Given the description of an element on the screen output the (x, y) to click on. 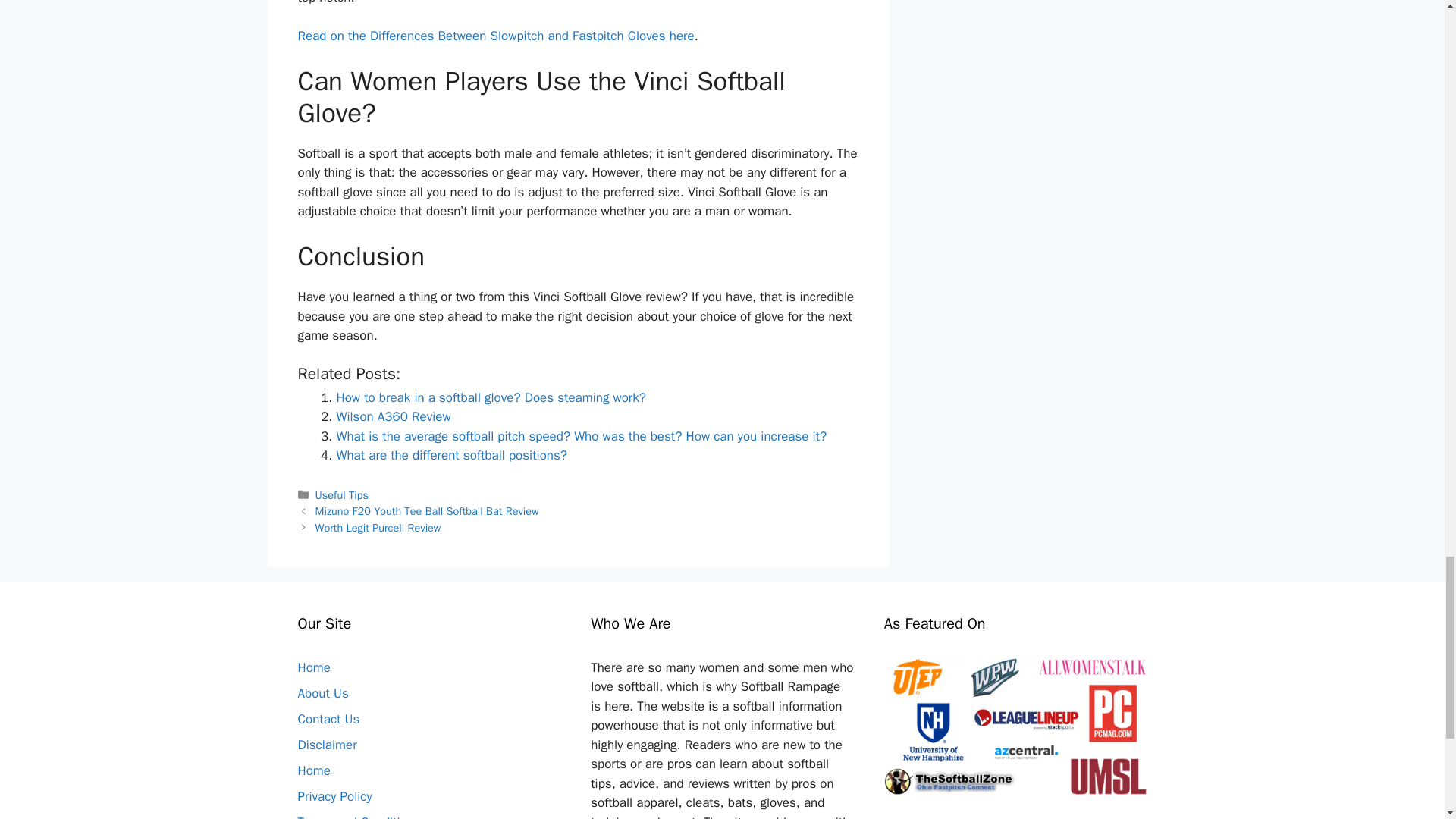
Wilson A360 Review (393, 416)
How to break in a softball glove? Does steaming work? (491, 397)
Useful Tips (341, 495)
What are the different softball positions? (451, 455)
Mizuno F20 Youth Tee Ball Softball Bat Review (426, 510)
How to break in a softball glove? Does steaming work? (491, 397)
Worth Legit Purcell Review (378, 527)
Wilson A360 Review (393, 416)
